Given the description of an element on the screen output the (x, y) to click on. 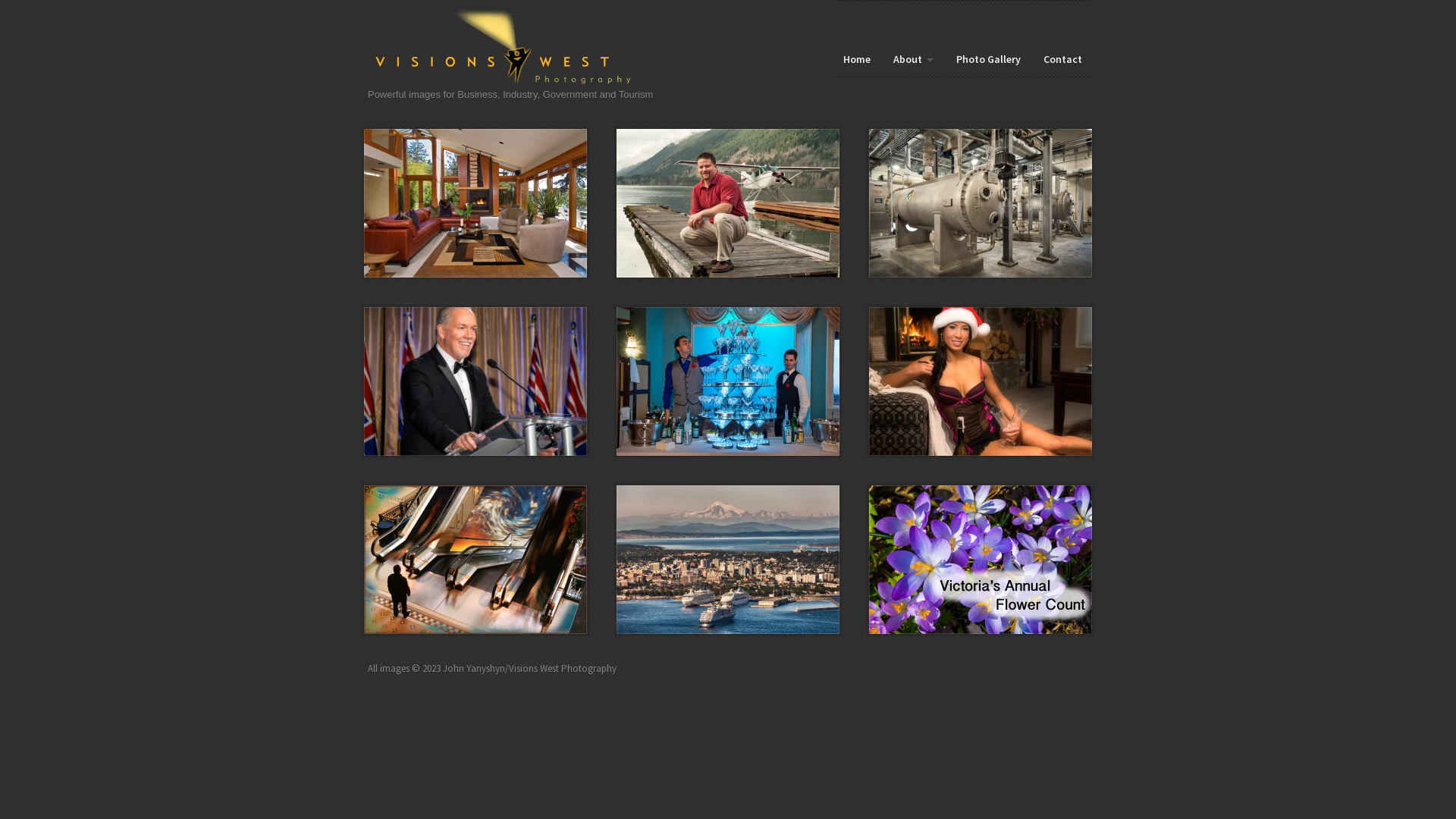
Photo Gallery Element type: text (988, 59)
About Element type: text (913, 59)
Home Element type: text (856, 59)
Contact Element type: text (1062, 59)
Home Element type: hover (512, 48)
